Given the description of an element on the screen output the (x, y) to click on. 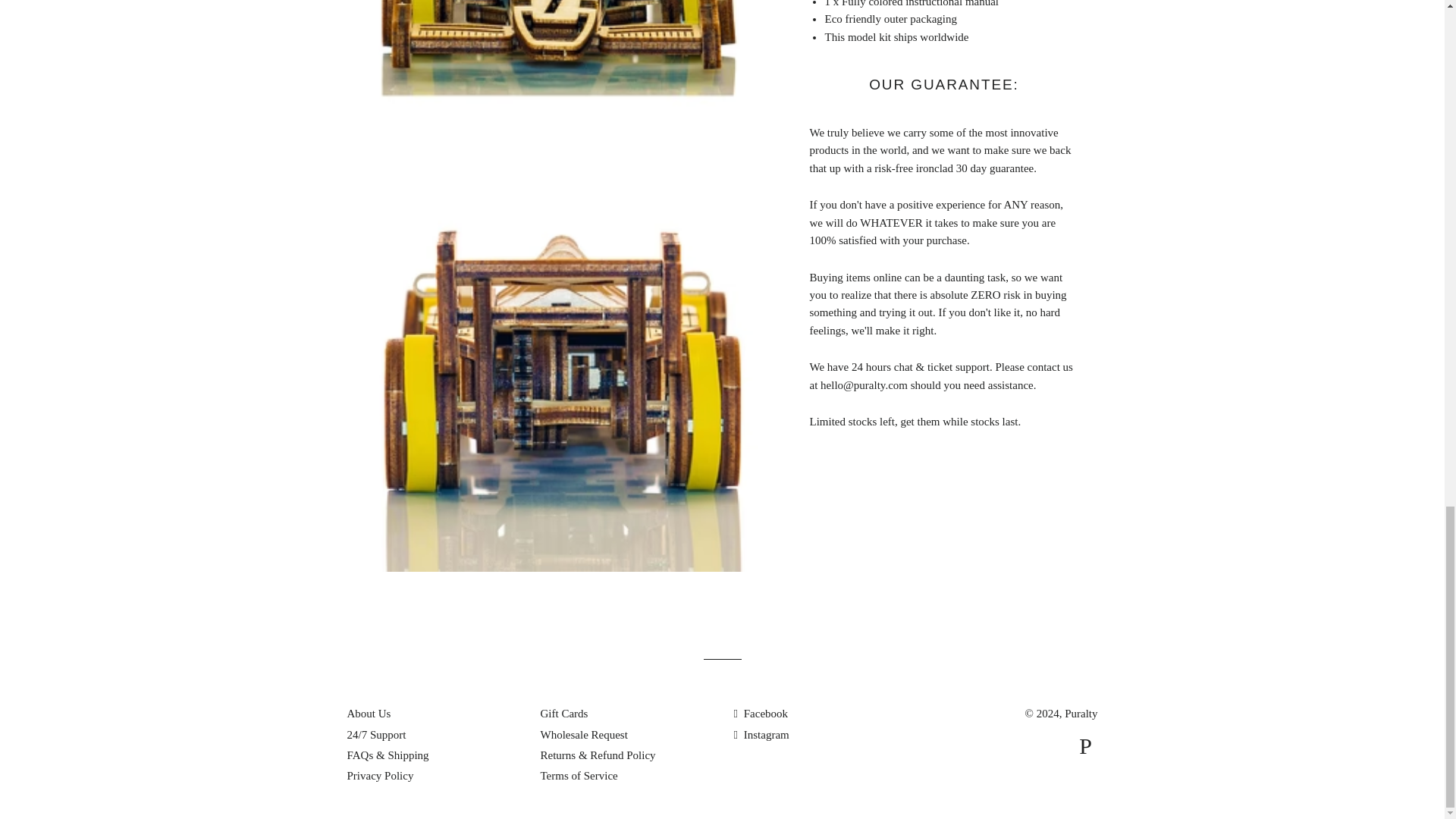
About Us (369, 713)
Wholesale Request (583, 734)
Puralty on Facebook (761, 713)
Gift Cards (564, 713)
Puralty on Instagram (761, 734)
Privacy Policy (380, 775)
